Given the description of an element on the screen output the (x, y) to click on. 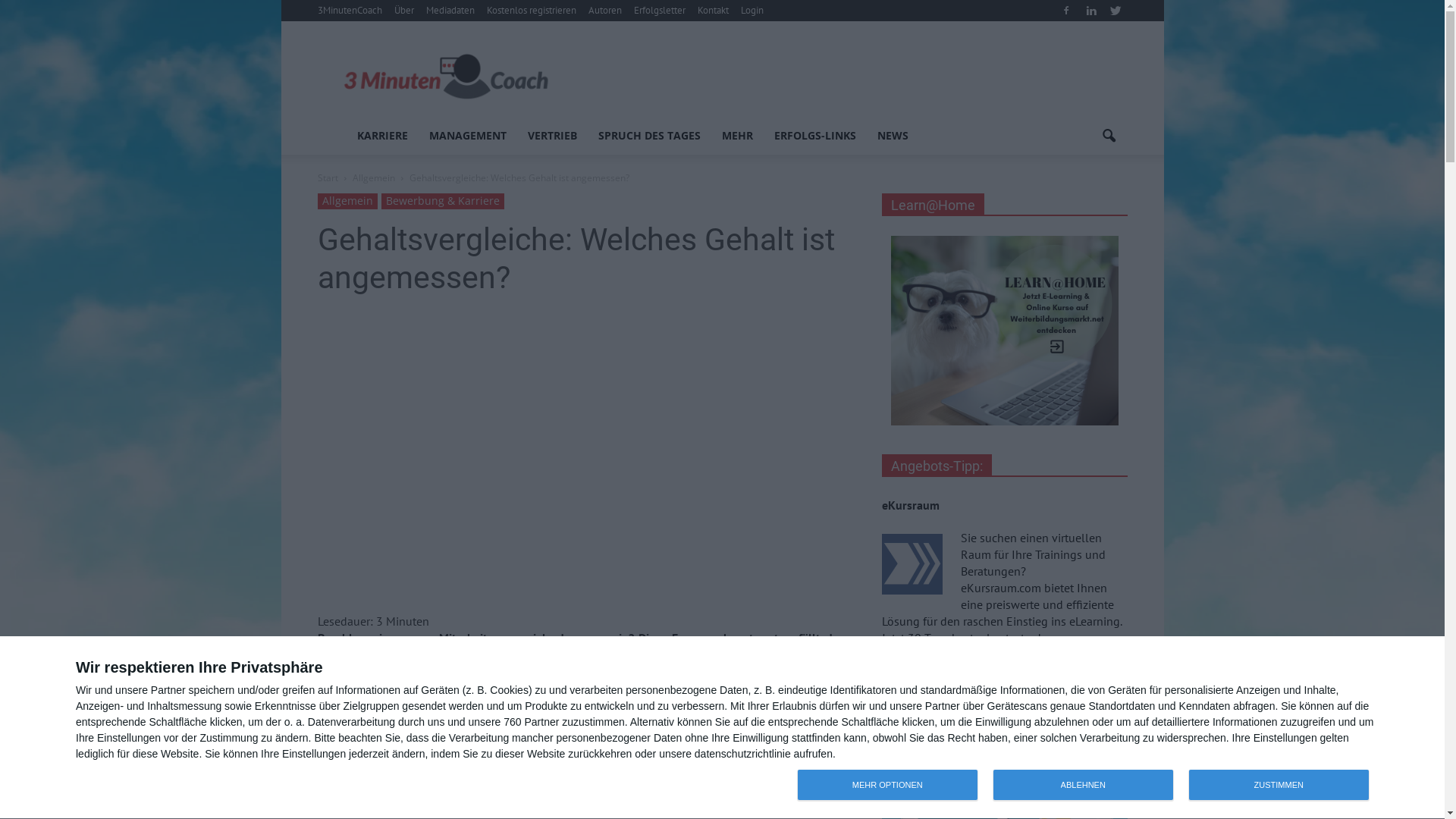
Erfolgsletter Element type: text (659, 9)
Bewerbung & Karriere Element type: text (441, 201)
Login Element type: text (751, 9)
VERTRIEB Element type: text (552, 135)
eKursraum Element type: text (909, 504)
MANAGEMENT Element type: text (467, 135)
MEHR OPTIONEN Element type: text (887, 784)
SPRUCH DES TAGES Element type: text (648, 135)
KARRIERE Element type: text (381, 135)
Autoren Element type: text (604, 9)
ERFOLGS-LINKS Element type: text (814, 135)
Kostenlos registrieren Element type: text (531, 9)
Mediadaten Element type: text (450, 9)
3MinutenCoach Element type: text (348, 9)
NEWS Element type: text (892, 135)
Facebook Element type: hover (1065, 10)
Kontakt Element type: text (712, 9)
Linkedin Element type: hover (1090, 10)
Allgemein Element type: text (346, 201)
Allgemein Element type: text (372, 177)
ABLEHNEN Element type: text (1083, 784)
ZUSTIMMEN Element type: text (1279, 784)
Twitter Element type: hover (1115, 10)
MEHR Element type: text (737, 135)
Start Element type: text (326, 177)
